Given the description of an element on the screen output the (x, y) to click on. 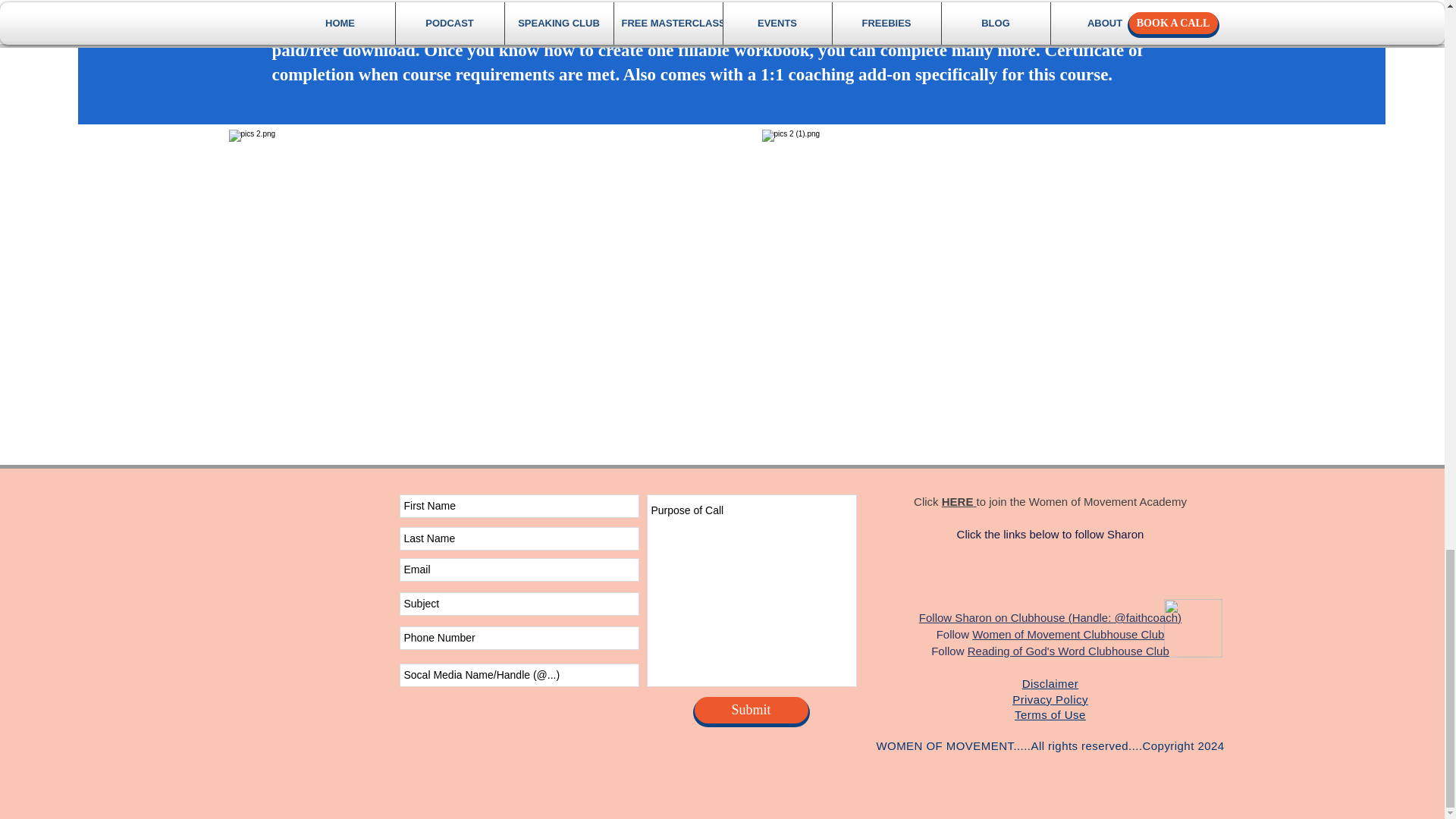
Women of Movement Clubhouse Club (1067, 634)
Privacy Policy (1049, 698)
HERE (959, 501)
Favicon WOM Logo.png (1192, 627)
Reading of God's Word Clubhouse Club (1068, 650)
Submit (751, 709)
Disclaimer (1050, 683)
Terms of Use (1050, 715)
